Given the description of an element on the screen output the (x, y) to click on. 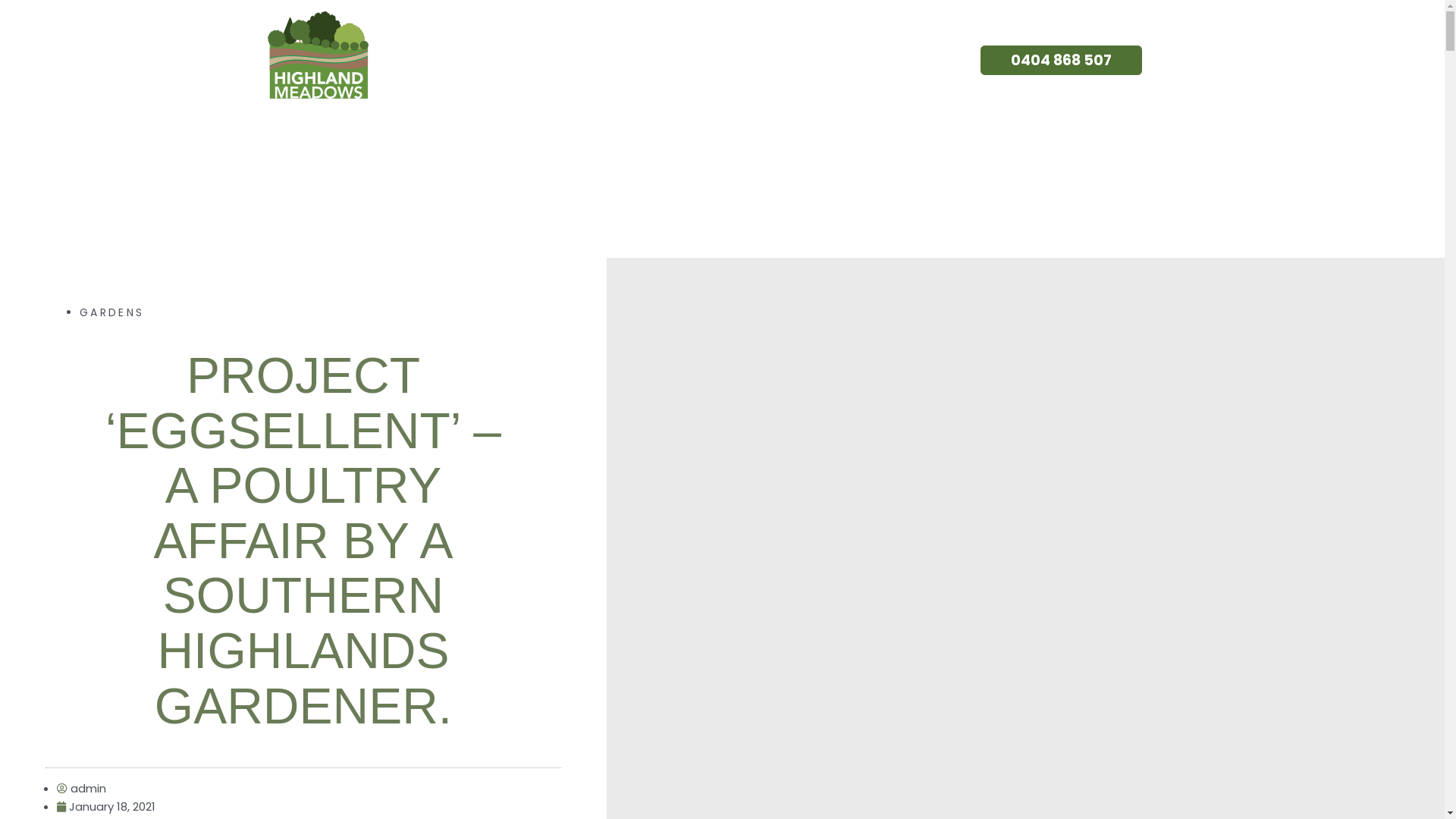
Contact Us Element type: text (891, 60)
0404 868 507 Element type: text (1060, 59)
Work Gallery Element type: text (529, 60)
The Gardening Blog Element type: text (714, 60)
